Given the description of an element on the screen output the (x, y) to click on. 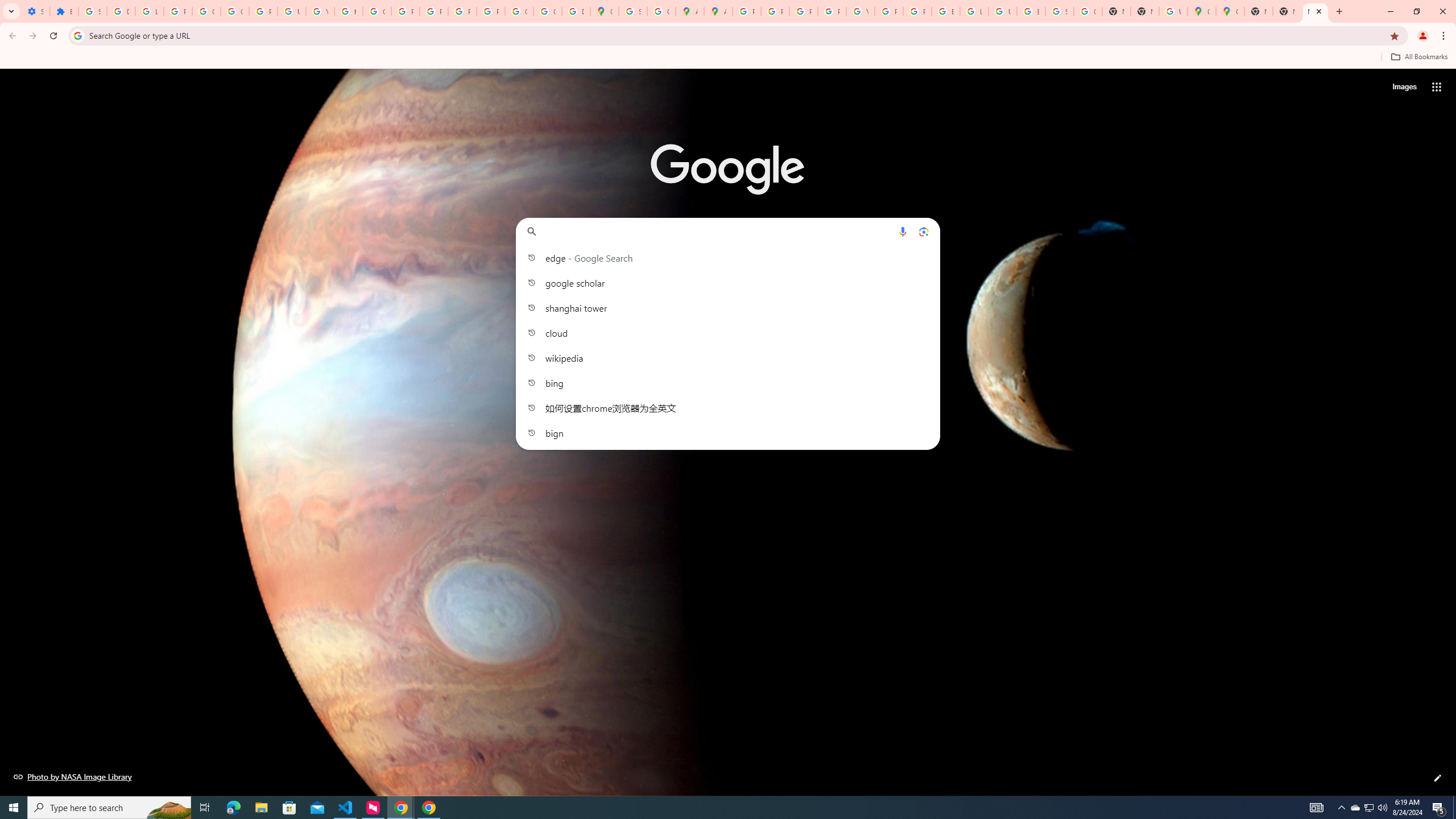
Create your Google Account (661, 11)
Policy Accountability and Transparency - Transparency Center (746, 11)
Sign in - Google Accounts (632, 11)
